Given the description of an element on the screen output the (x, y) to click on. 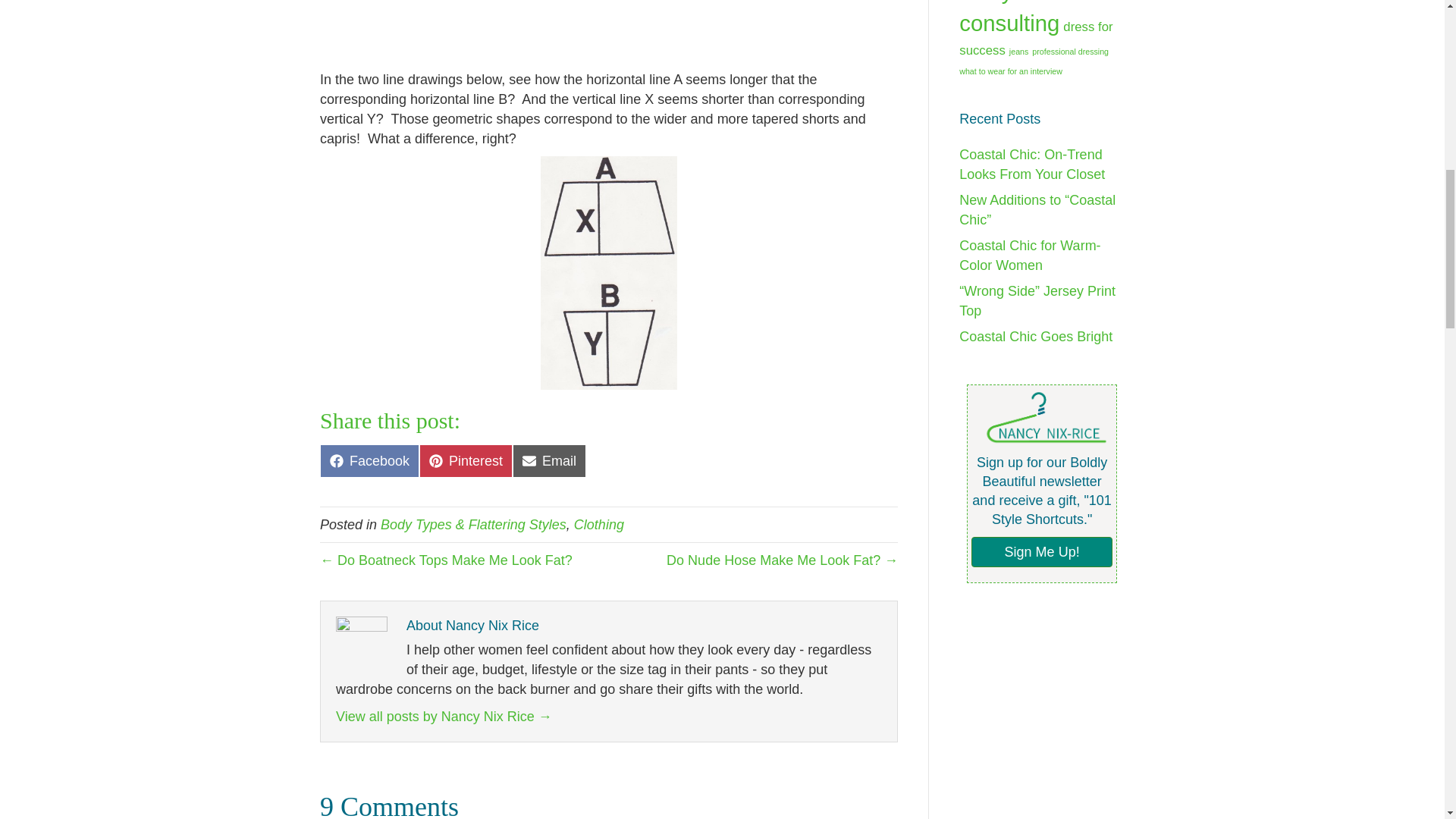
nnr-logo3B-1400px (465, 460)
